Given the description of an element on the screen output the (x, y) to click on. 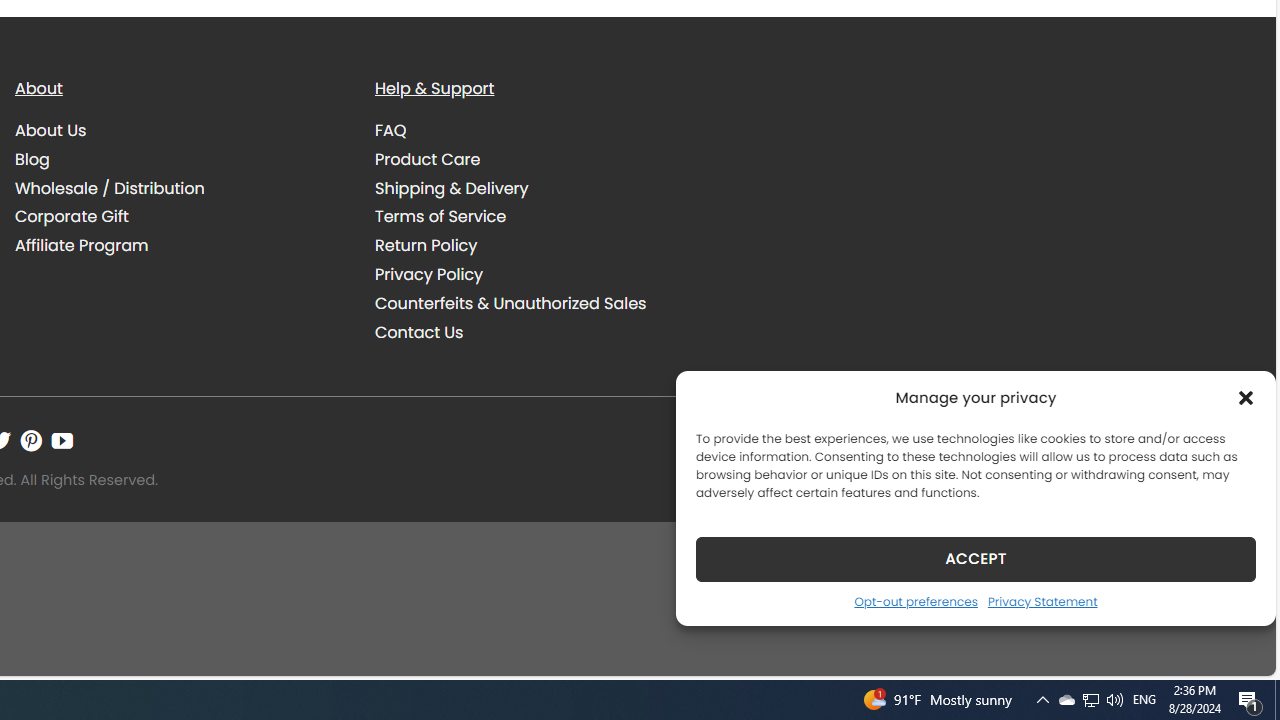
Corporate Gift (72, 216)
Shipping & Delivery (451, 187)
Privacy Policy (429, 273)
Affiliate Program (180, 246)
Follow on YouTube (61, 440)
Privacy Statement (1042, 601)
Class: cmplz-close (1245, 397)
Product Care (428, 158)
ACCEPT (975, 558)
FAQ (391, 130)
Counterfeits & Unauthorized Sales (540, 303)
Return Policy (426, 245)
FAQ (540, 131)
Terms of Service (440, 216)
Wholesale / Distribution (109, 187)
